Given the description of an element on the screen output the (x, y) to click on. 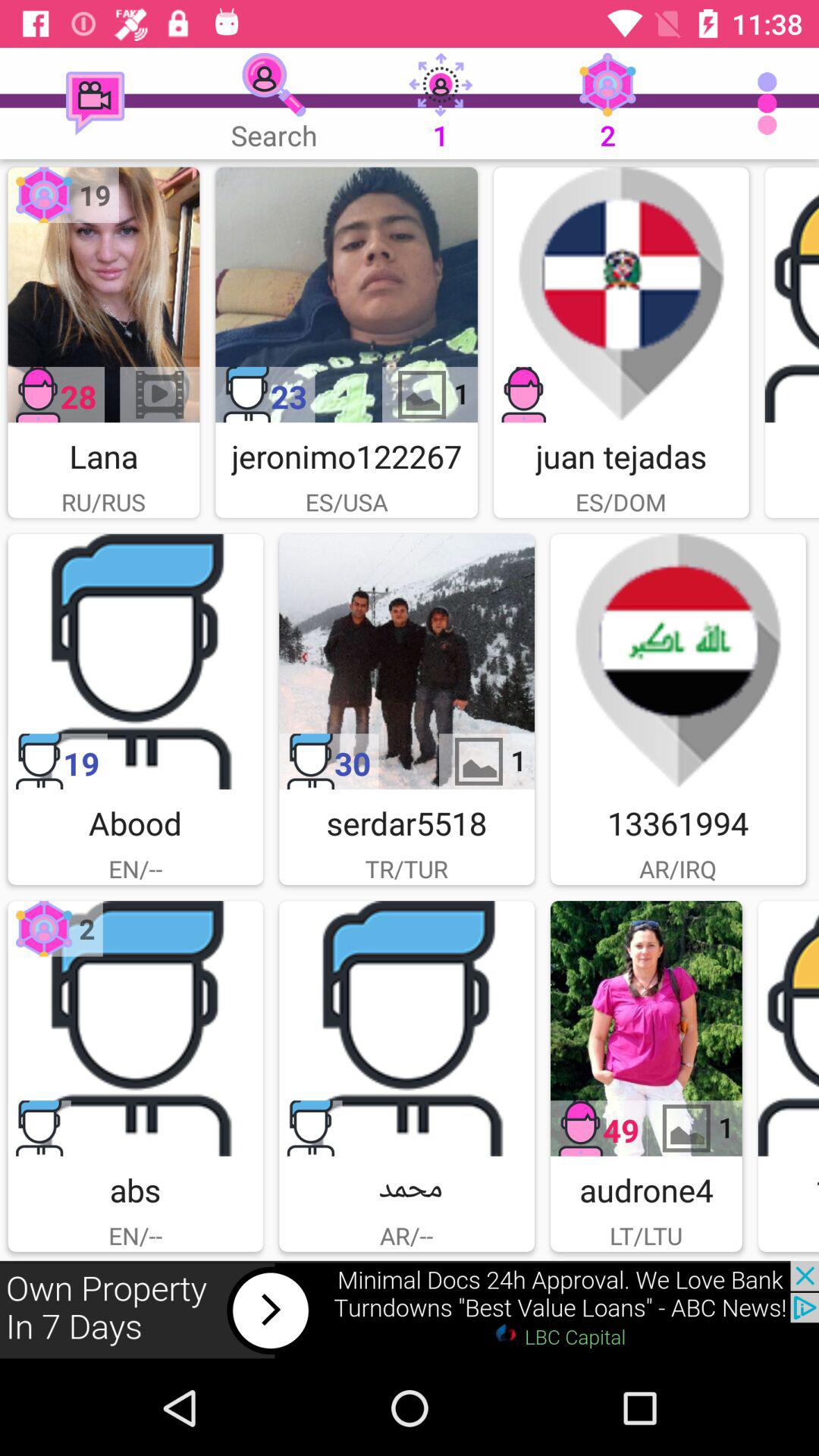
profile photo (103, 294)
